Given the description of an element on the screen output the (x, y) to click on. 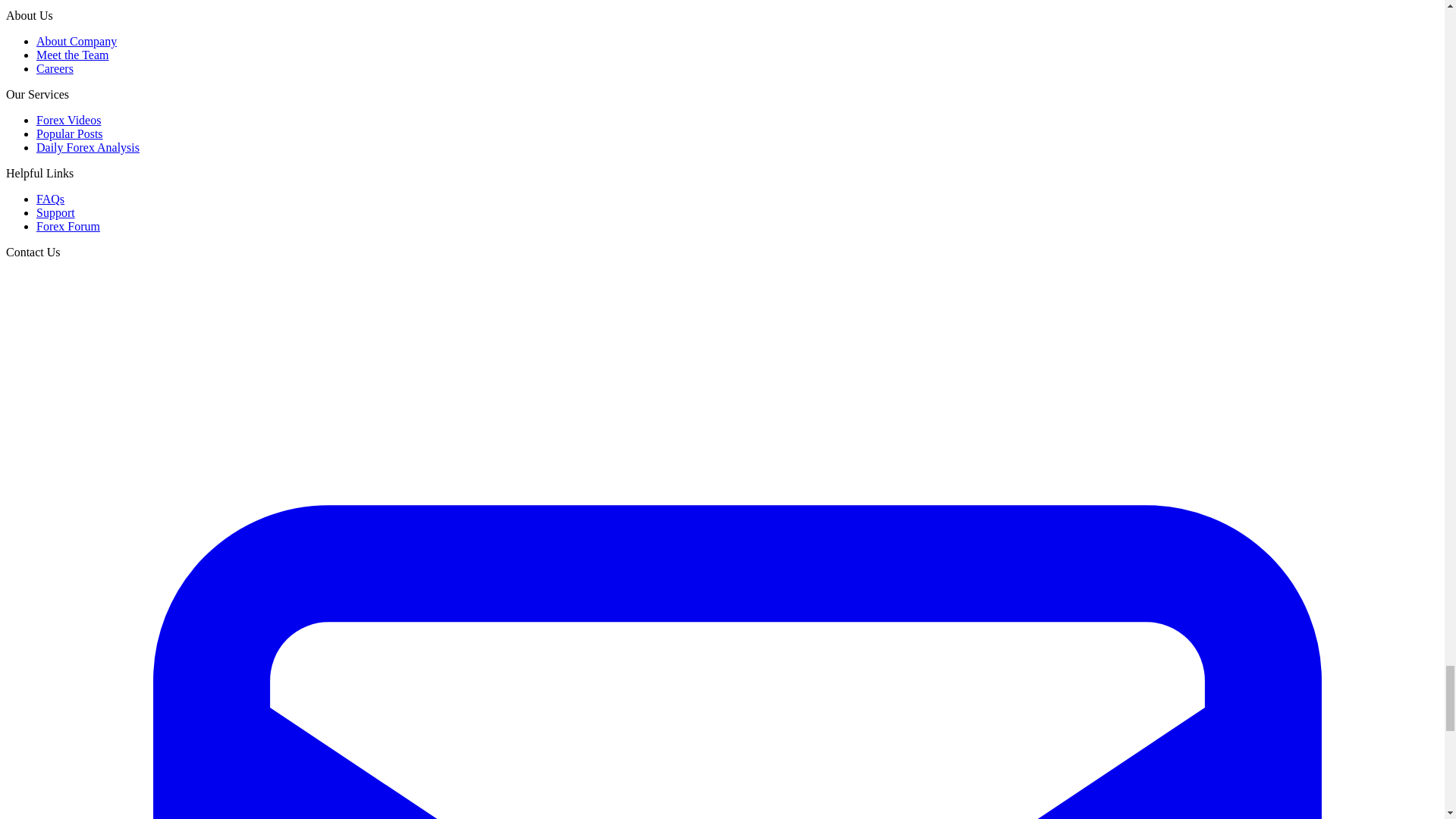
Daily Forex Analysis (87, 146)
Forex Videos (68, 119)
FAQs (50, 198)
About Company (76, 41)
Support (55, 212)
Meet the Team (71, 54)
Careers (55, 68)
Forex Forum (68, 226)
Popular Posts (69, 133)
